Given the description of an element on the screen output the (x, y) to click on. 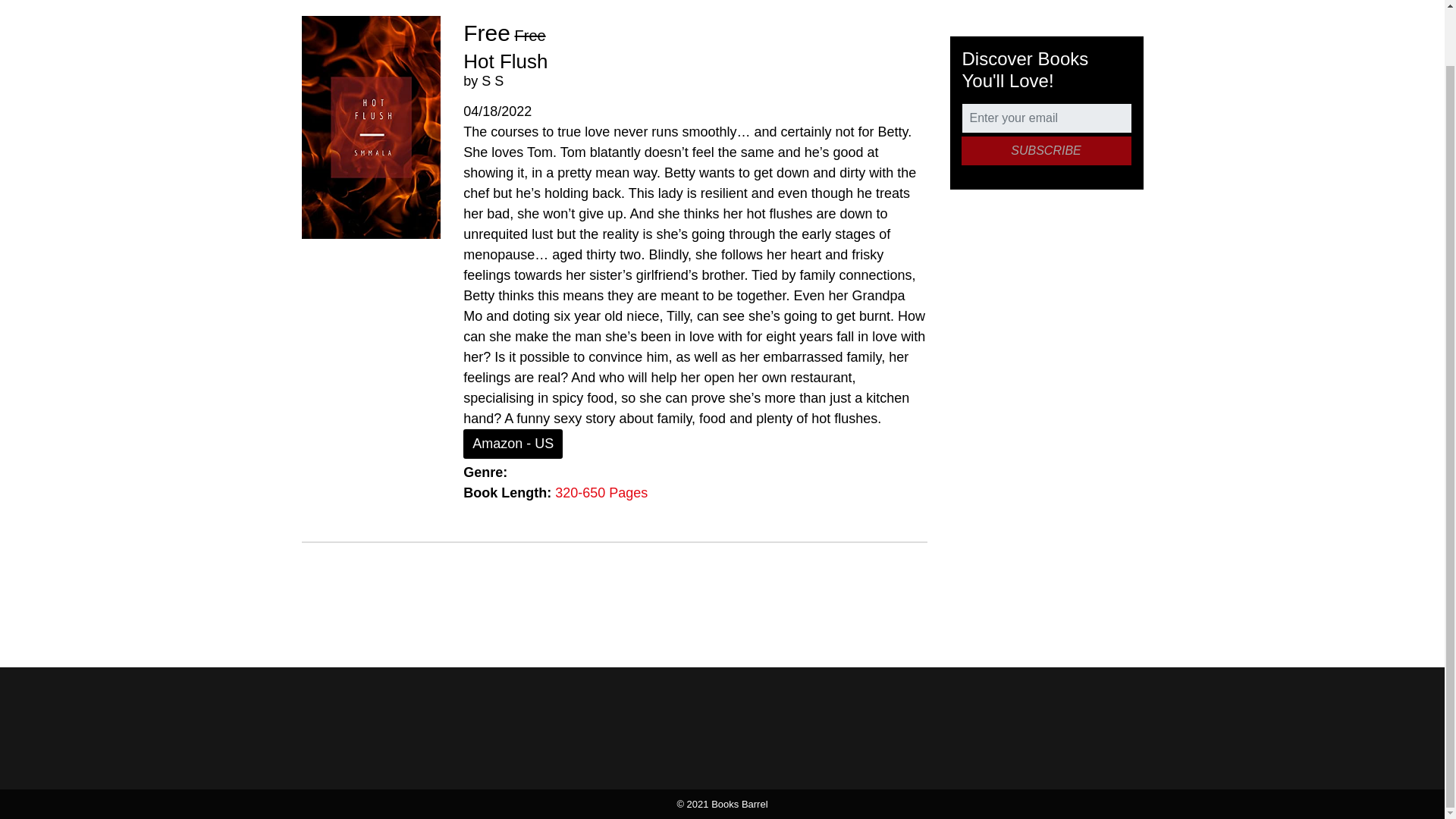
320-650 Pages (600, 492)
Hot Flush (505, 60)
Subscribe (1045, 150)
Subscribe (1045, 150)
Amazon - US (512, 443)
